Given the description of an element on the screen output the (x, y) to click on. 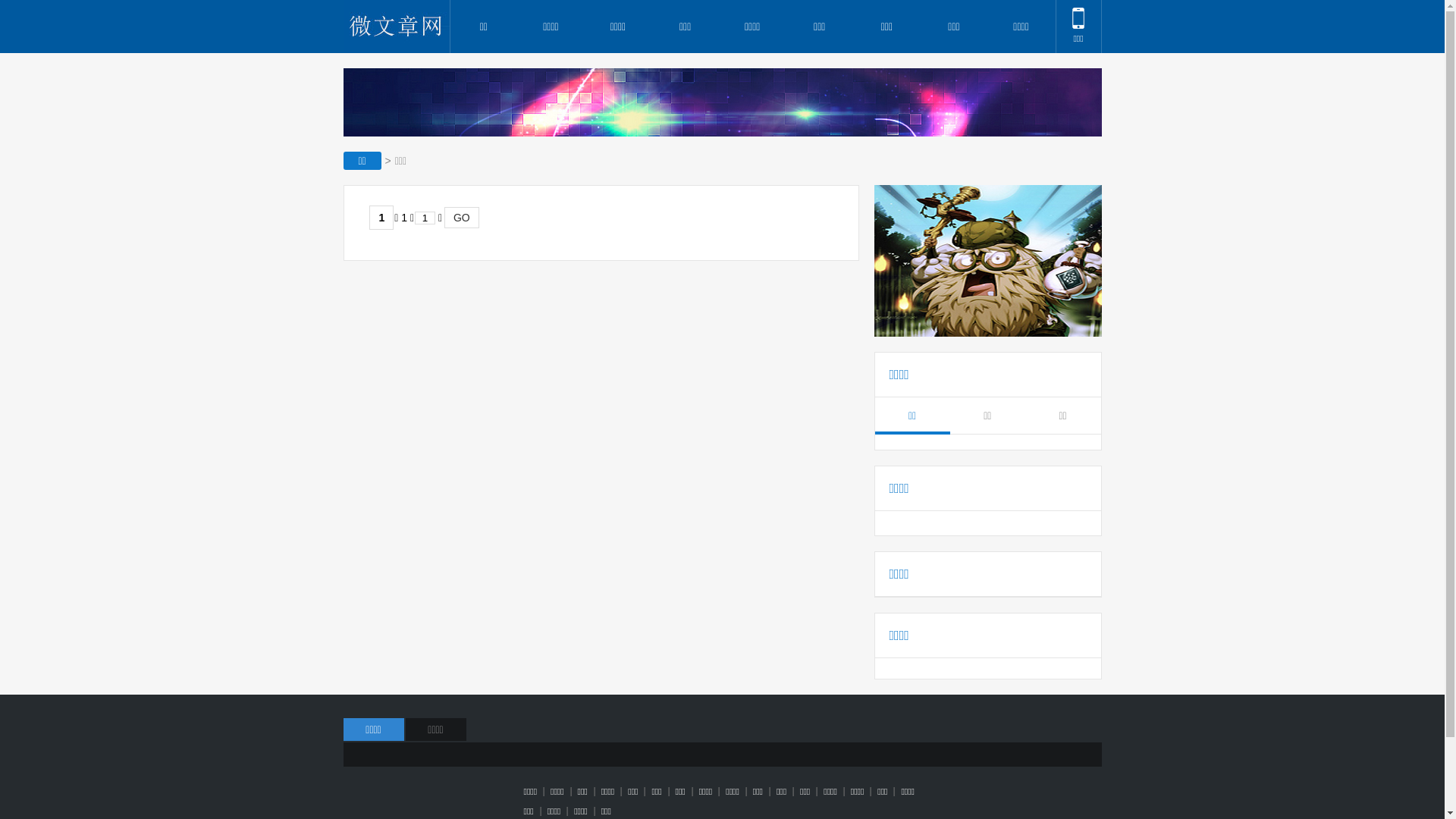
gg Element type: hover (721, 102)
GO Element type: text (461, 217)
gg Element type: hover (987, 260)
